Given the description of an element on the screen output the (x, y) to click on. 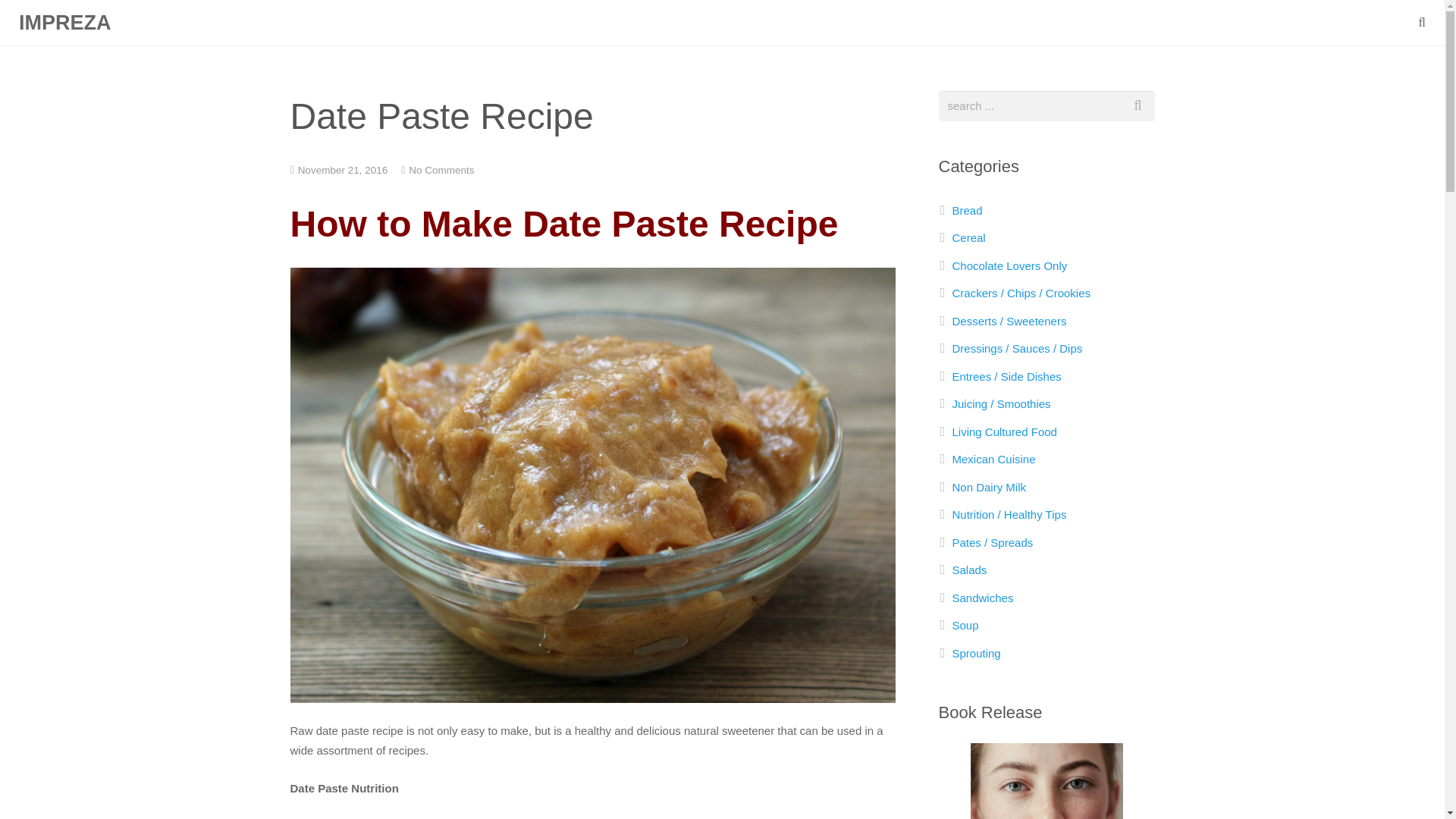
Cereal (968, 237)
Sprouting (976, 653)
No Comments (441, 170)
Mexican Cuisine (993, 459)
Living Cultured Food (1004, 431)
Bread (967, 210)
Sandwiches (982, 597)
Non Dairy Milk (989, 486)
Chocolate Lovers Only (1009, 265)
Soup (965, 625)
